Given the description of an element on the screen output the (x, y) to click on. 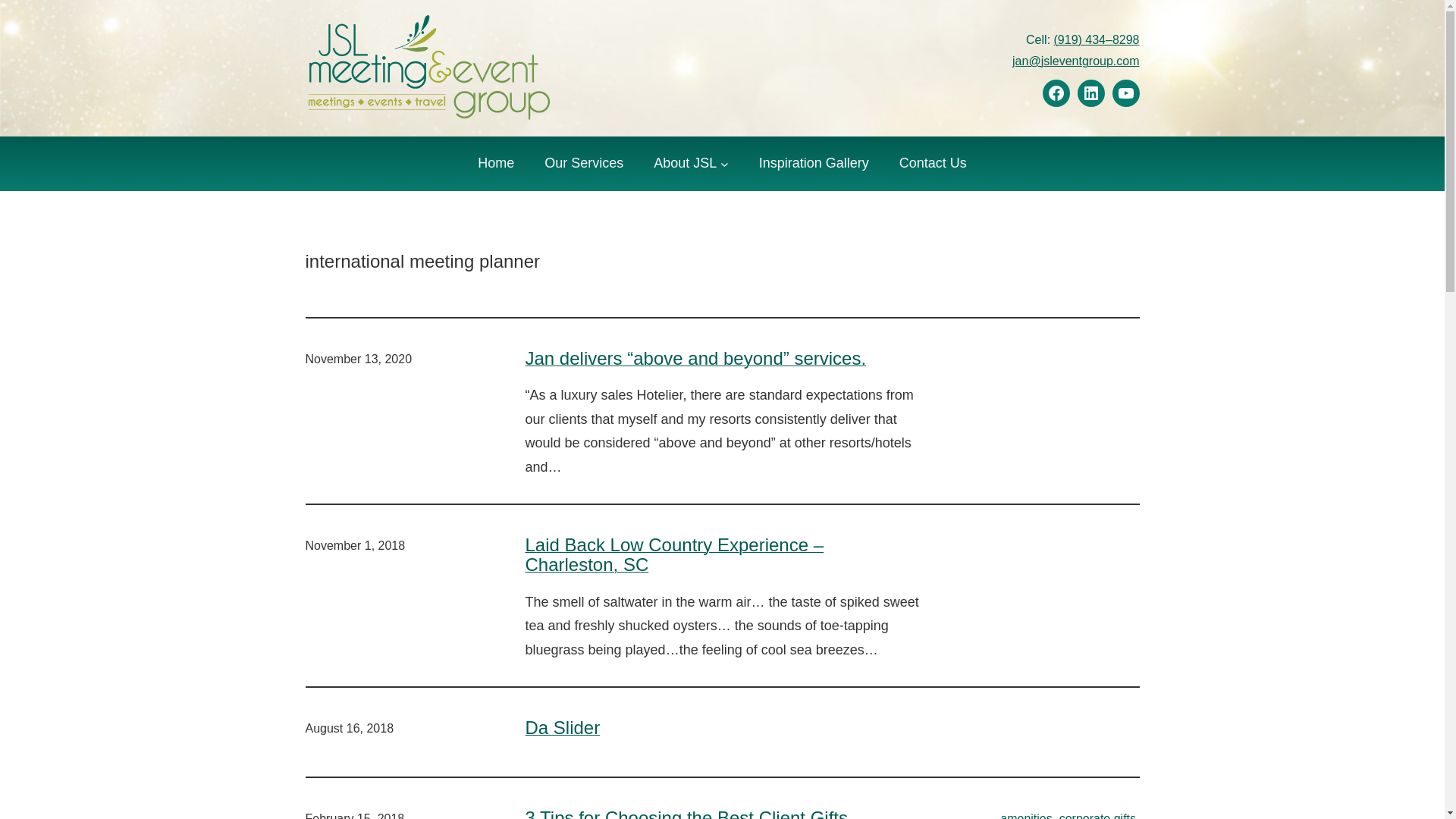
Home (495, 163)
Facebook (1055, 93)
Our Services (583, 163)
corporate gifts (1097, 815)
3 Tips for Choosing the Best Client Gifts (685, 813)
About JSL (684, 163)
amenities (1025, 815)
YouTube (1125, 93)
Contact Us (932, 163)
Inspiration Gallery (813, 163)
LinkedIn (1090, 93)
Da Slider (561, 727)
